Given the description of an element on the screen output the (x, y) to click on. 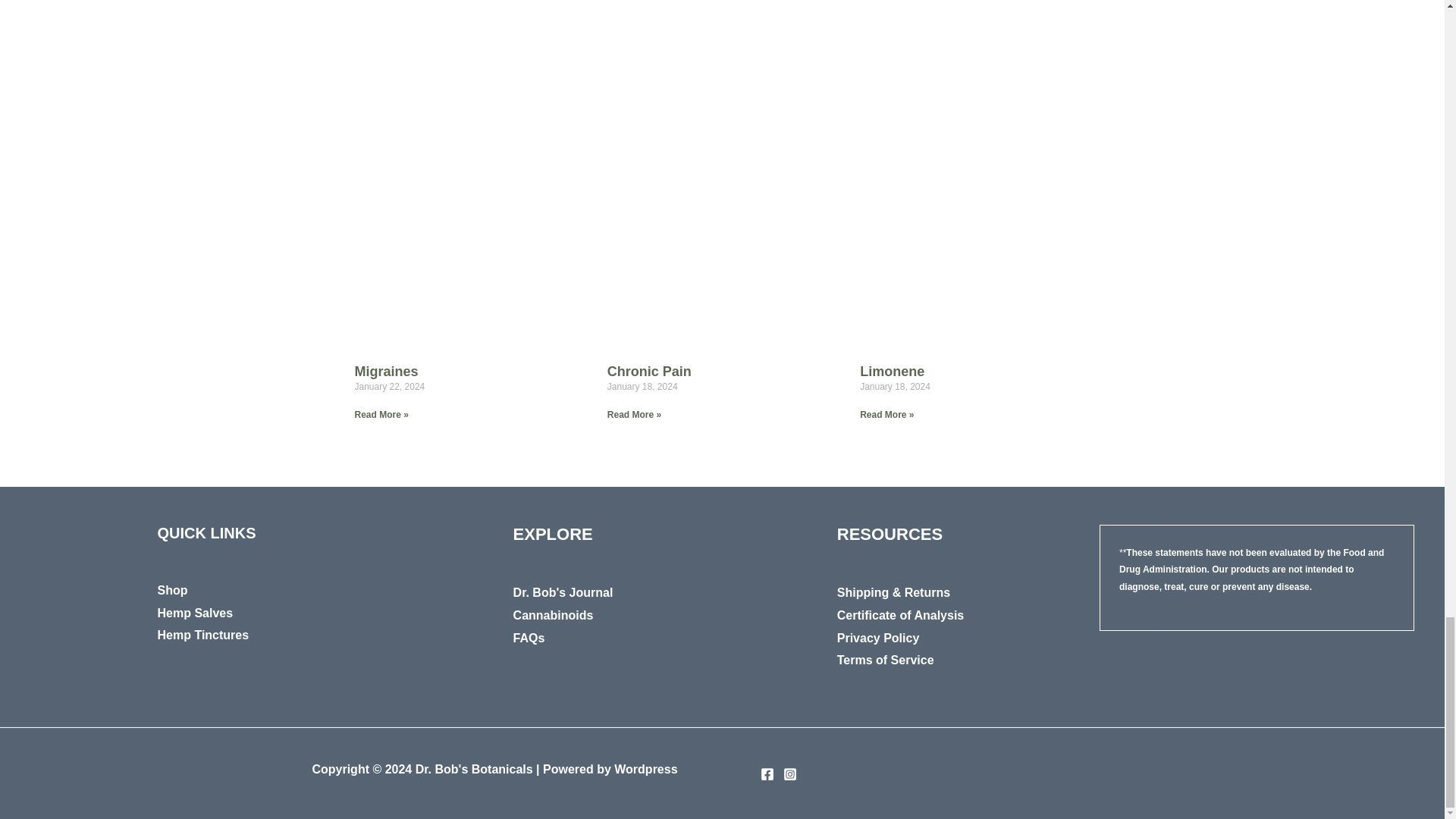
Chronic Pain (649, 371)
Limonene (892, 371)
Migraines (387, 371)
